Given the description of an element on the screen output the (x, y) to click on. 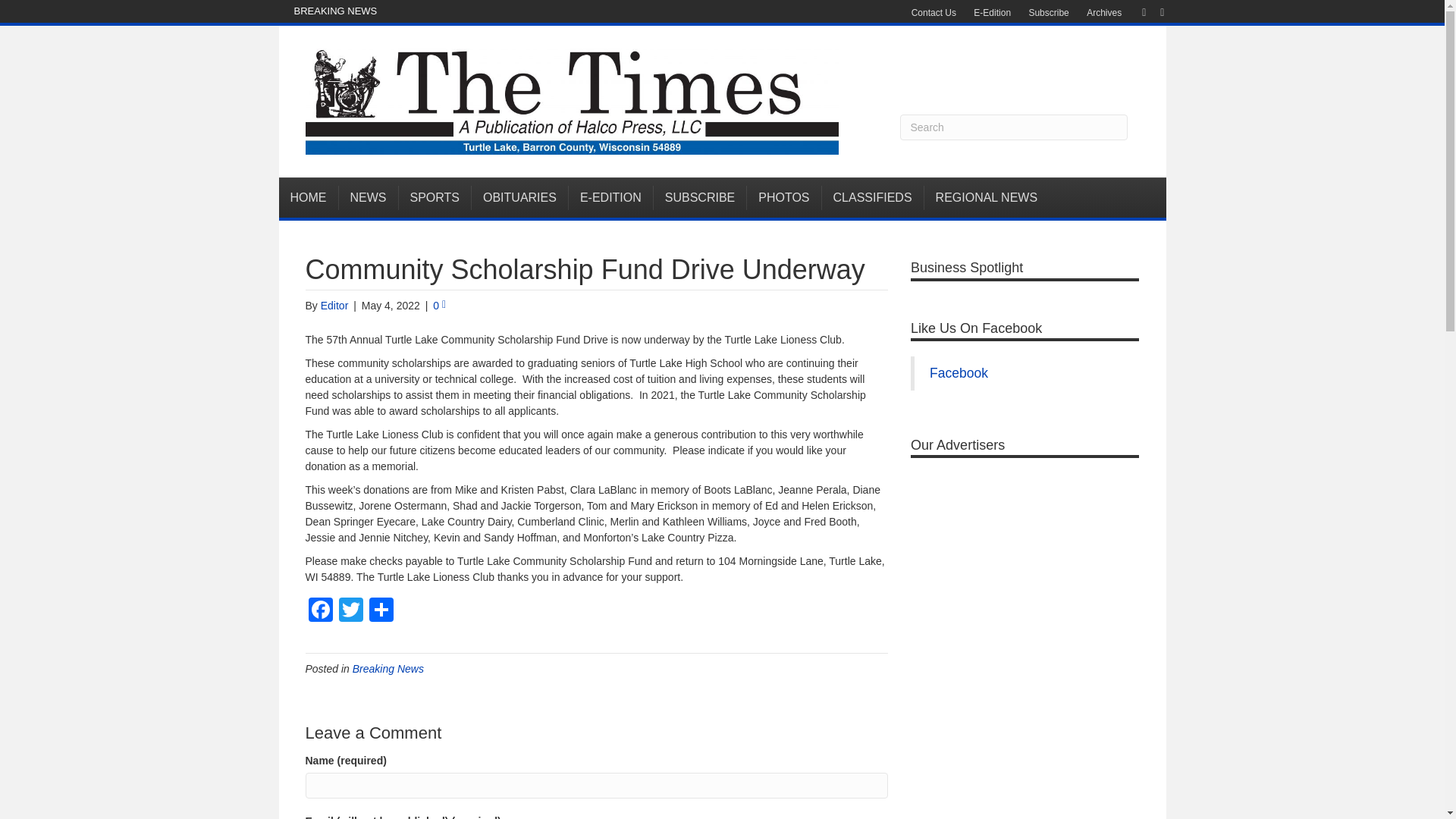
E-EDITION (611, 197)
Breaking News (387, 668)
NEWS (367, 197)
Archives (1103, 13)
Twitter (349, 611)
Email (1154, 11)
Facebook (1135, 11)
Subscribe (1047, 13)
E-Edition (991, 13)
SUBSCRIBE (699, 197)
SPORTS (434, 197)
REGIONAL NEWS (986, 197)
Facebook (319, 611)
Twitter (349, 611)
0 (438, 305)
